Given the description of an element on the screen output the (x, y) to click on. 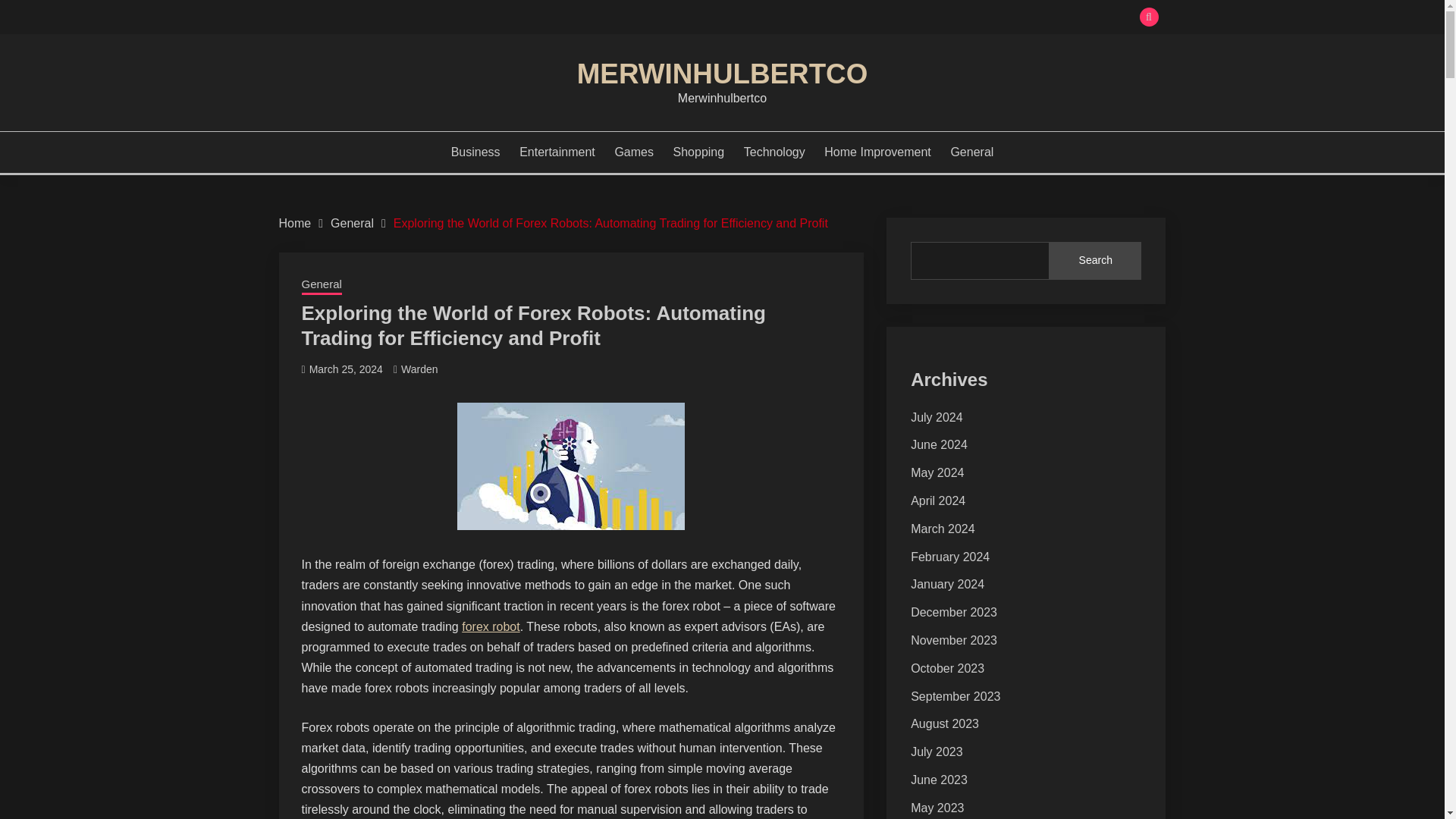
Games (633, 152)
Search (1095, 260)
General (352, 223)
Technology (774, 152)
Business (475, 152)
Warden (419, 369)
March 25, 2024 (345, 369)
Shopping (698, 152)
May 2024 (937, 472)
Home Improvement (877, 152)
Search (832, 18)
Home (295, 223)
March 2024 (943, 528)
Entertainment (557, 152)
